Given the description of an element on the screen output the (x, y) to click on. 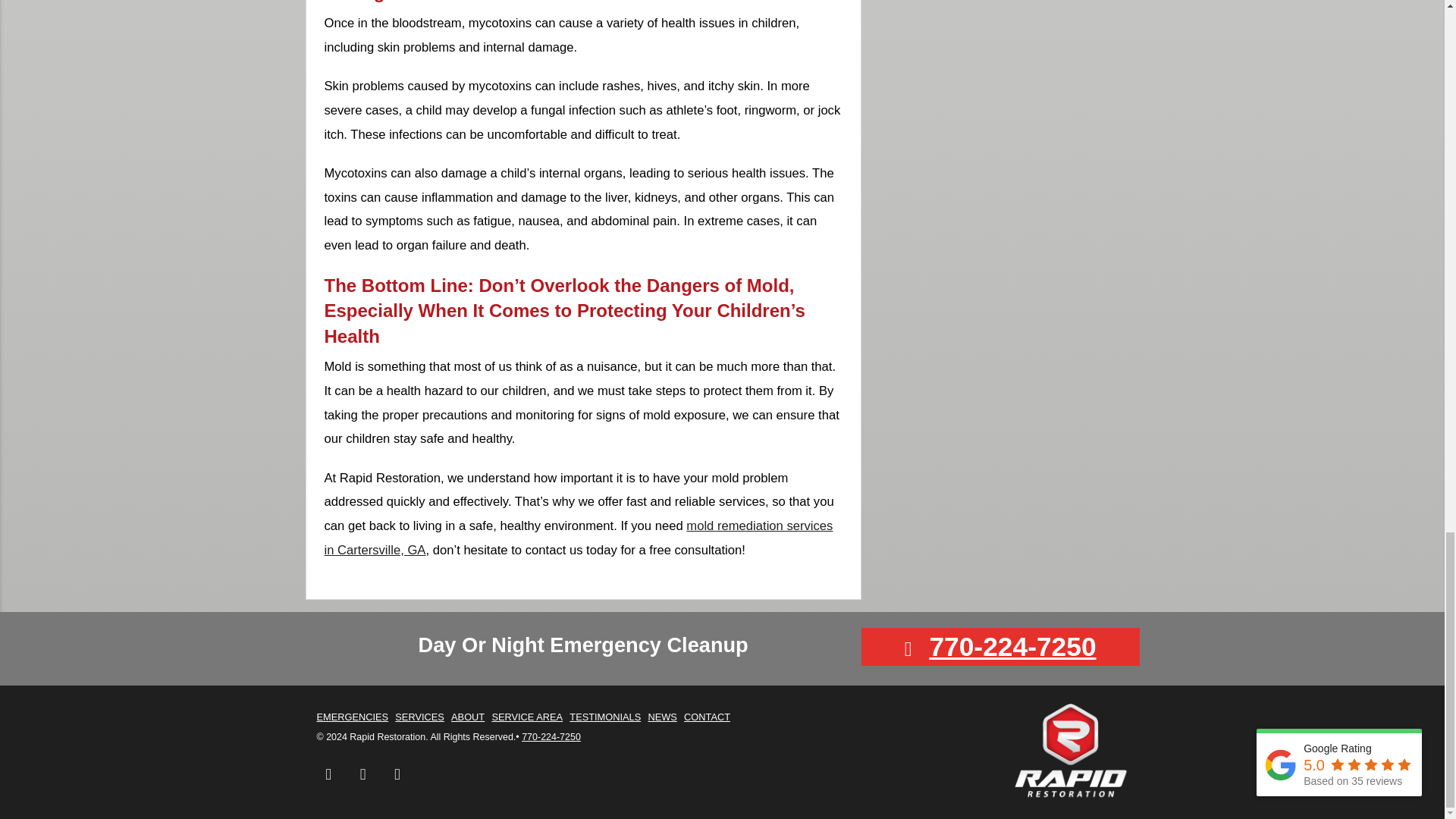
770-224-7250 (1012, 645)
NEWS (662, 716)
CONTACT (707, 716)
mold remediation services in Cartersville, GA (578, 537)
770-224-7250 (550, 737)
SERVICES (419, 716)
TESTIMONIALS (604, 716)
EMERGENCIES (352, 716)
ABOUT (467, 716)
SERVICE AREA (527, 716)
